Given the description of an element on the screen output the (x, y) to click on. 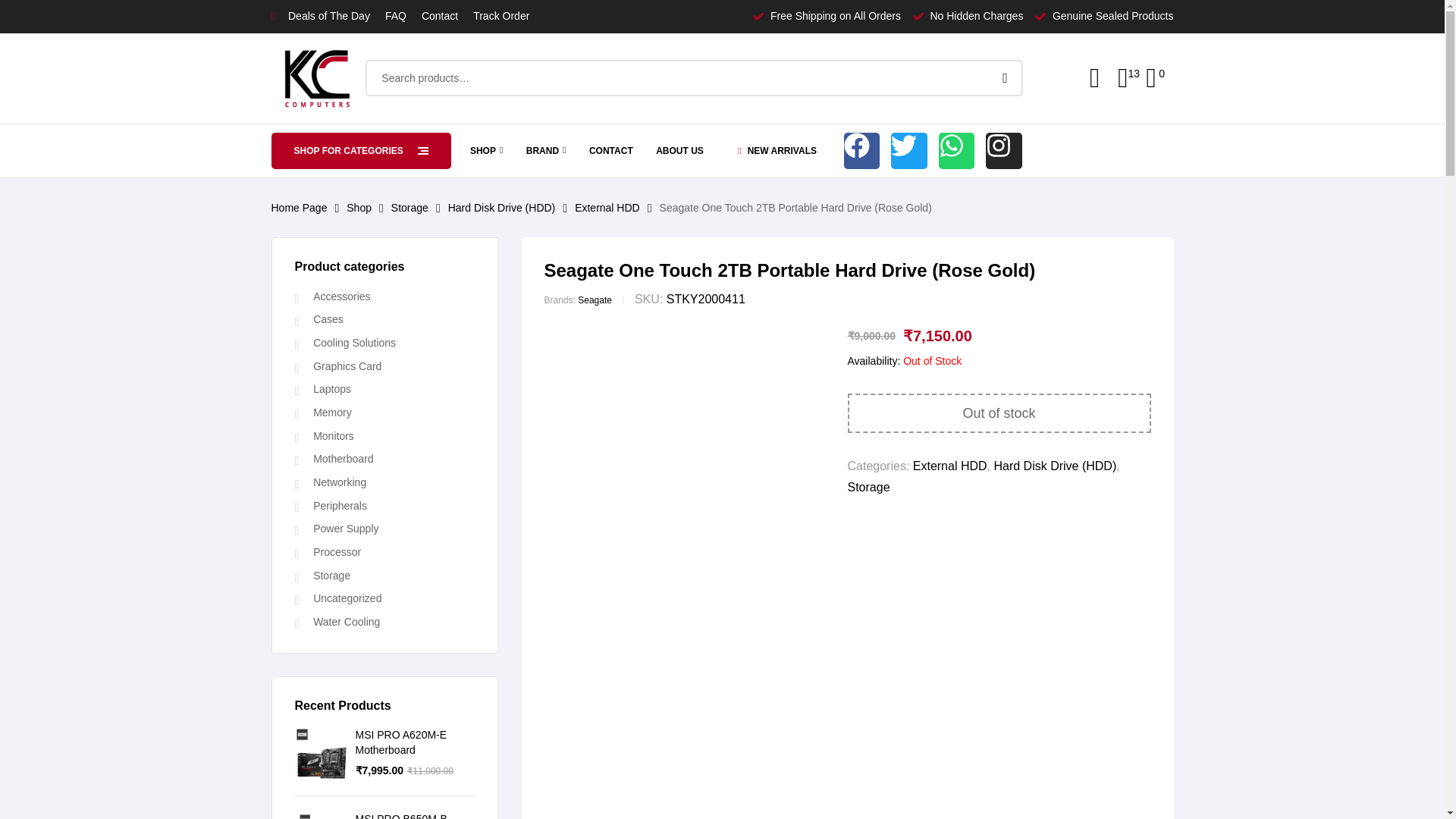
Track Order (501, 16)
Contact (440, 16)
Deals of The Day (319, 16)
Search (1002, 77)
FAQ (395, 16)
